Given the description of an element on the screen output the (x, y) to click on. 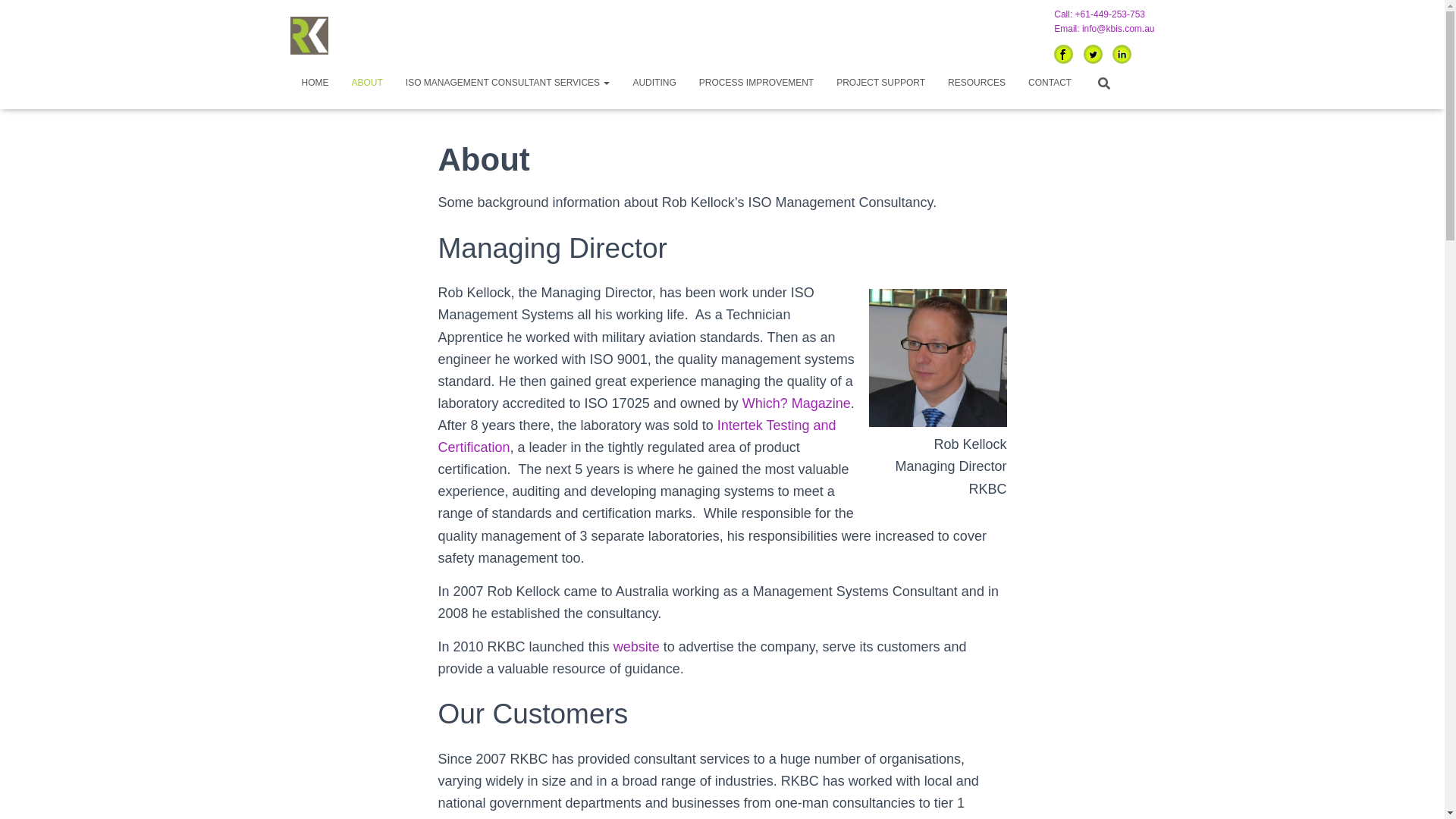
About (366, 82)
Auditing (654, 82)
ISO MANAGEMENT CONSULTANT SERVICES (507, 82)
Which? Magazine (796, 403)
ABOUT (366, 82)
AUDITING (654, 82)
Process Improvement (756, 82)
Resources (976, 82)
CONTACT (1049, 82)
website (635, 646)
Intertek Testing and Certification (636, 436)
PROCESS IMPROVEMENT (756, 82)
PROJECT SUPPORT (880, 82)
Home (314, 82)
HOME (314, 82)
